Given the description of an element on the screen output the (x, y) to click on. 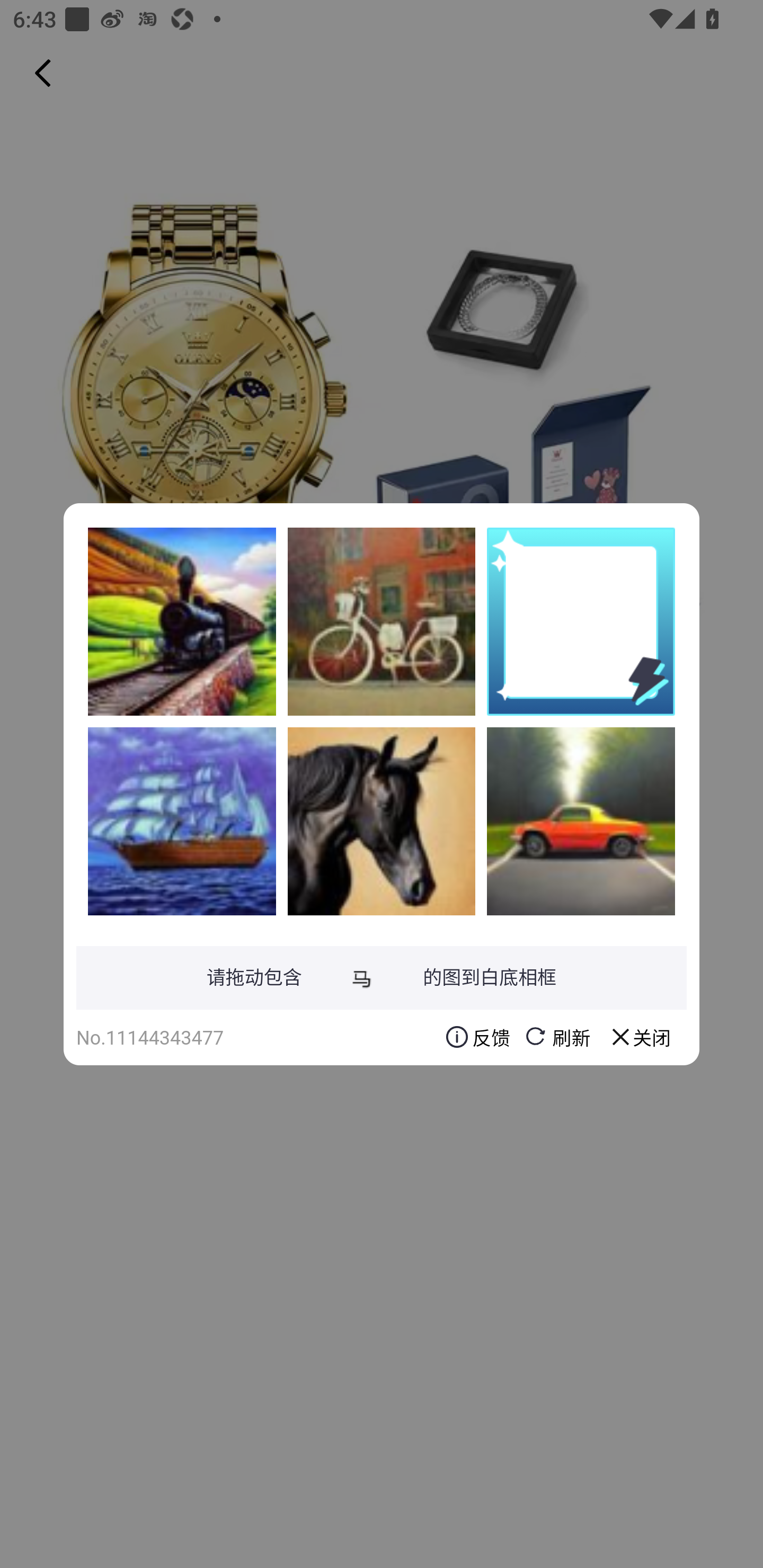
48 (181, 621)
+8RP8+Z (381, 621)
Q5wM0gZPfBby8u (580, 820)
